Given the description of an element on the screen output the (x, y) to click on. 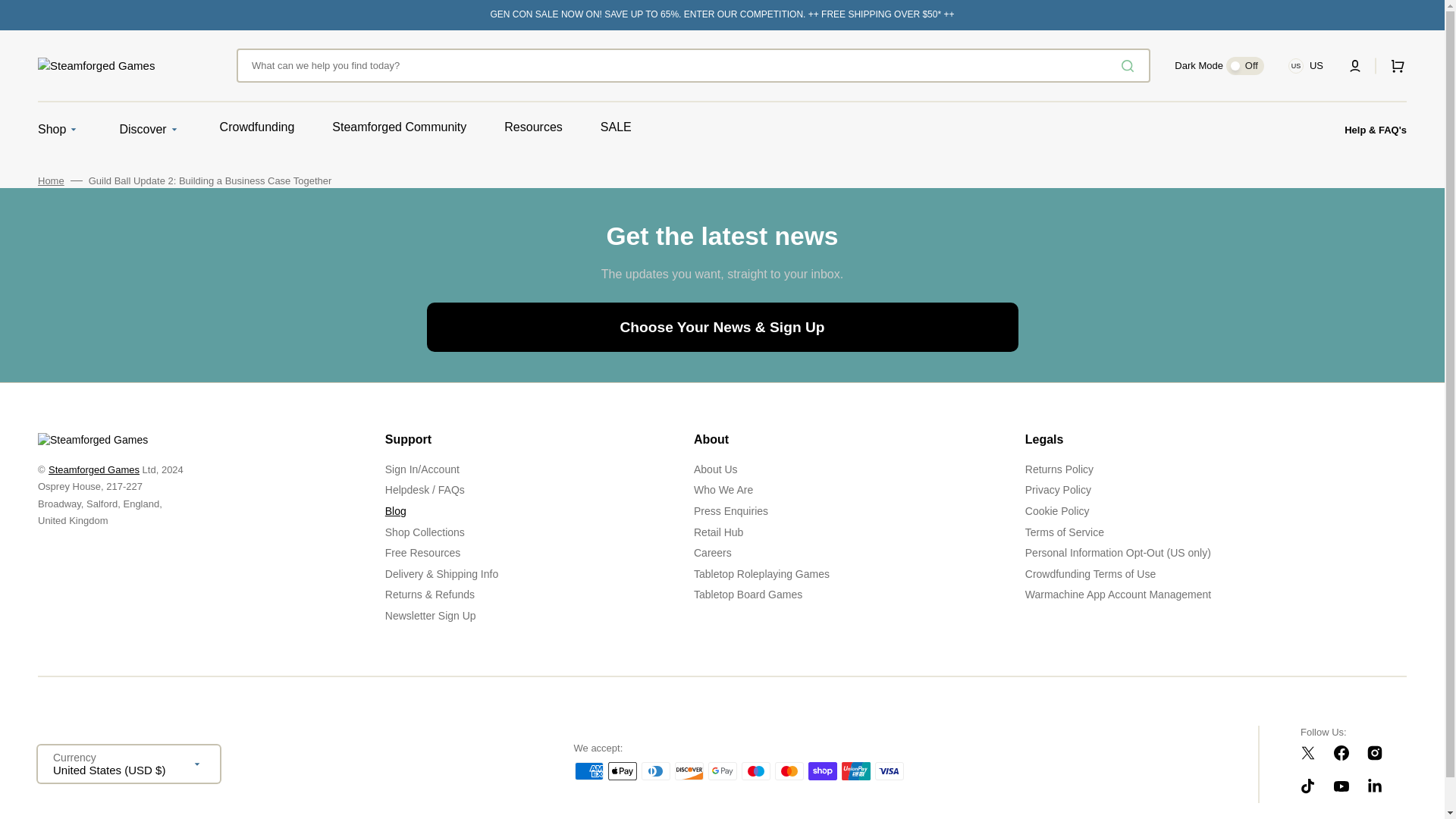
Shop (51, 129)
Discover (142, 129)
SALE (615, 126)
Steamforged Community (398, 126)
Home (50, 181)
Resources (532, 126)
Crowdfunding (257, 126)
